Given the description of an element on the screen output the (x, y) to click on. 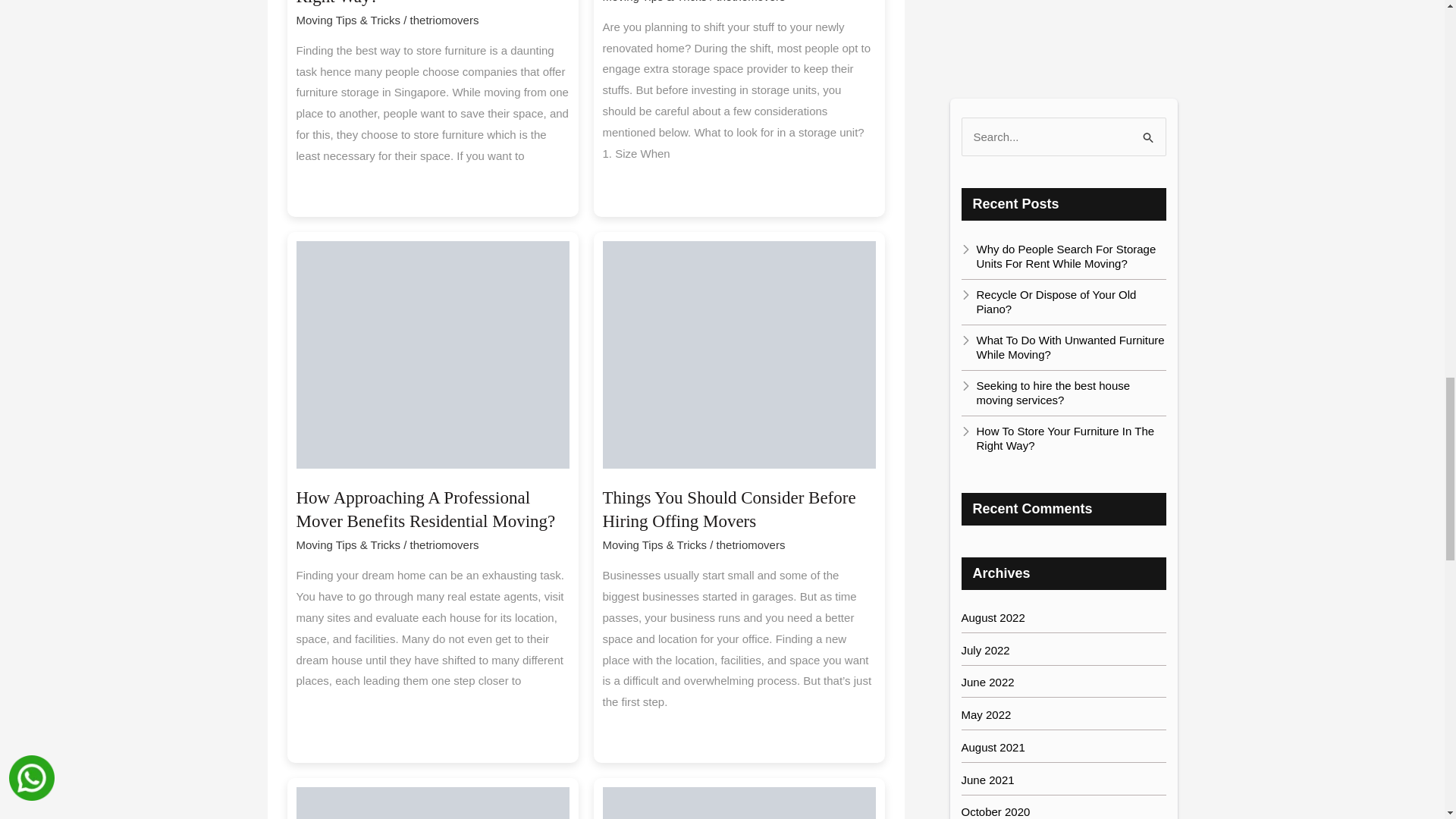
View all posts by thetriomovers (444, 19)
Things You Should Consider Before Hiring Offing Movers 20 (738, 354)
View all posts by thetriomovers (444, 544)
View all posts by thetriomovers (751, 1)
